Given the description of an element on the screen output the (x, y) to click on. 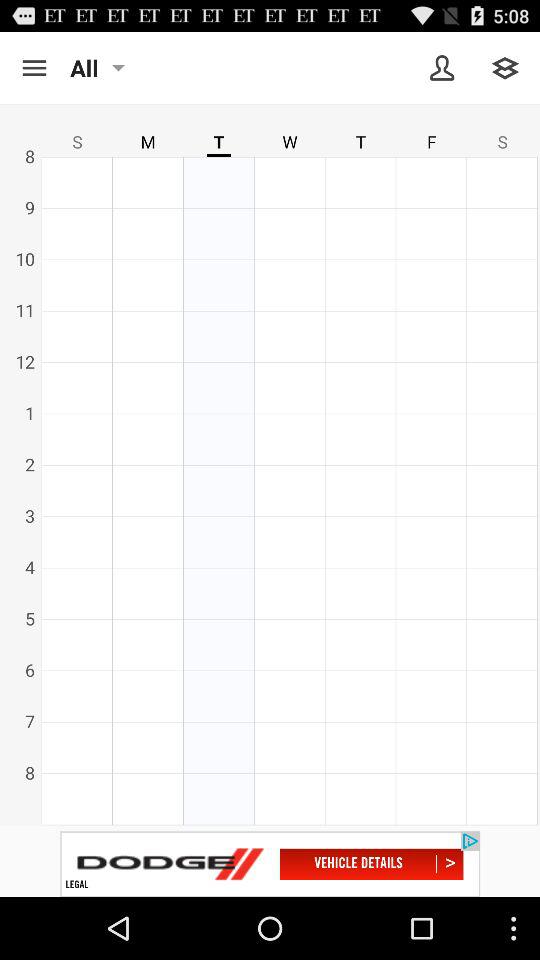
search (34, 68)
